Given the description of an element on the screen output the (x, y) to click on. 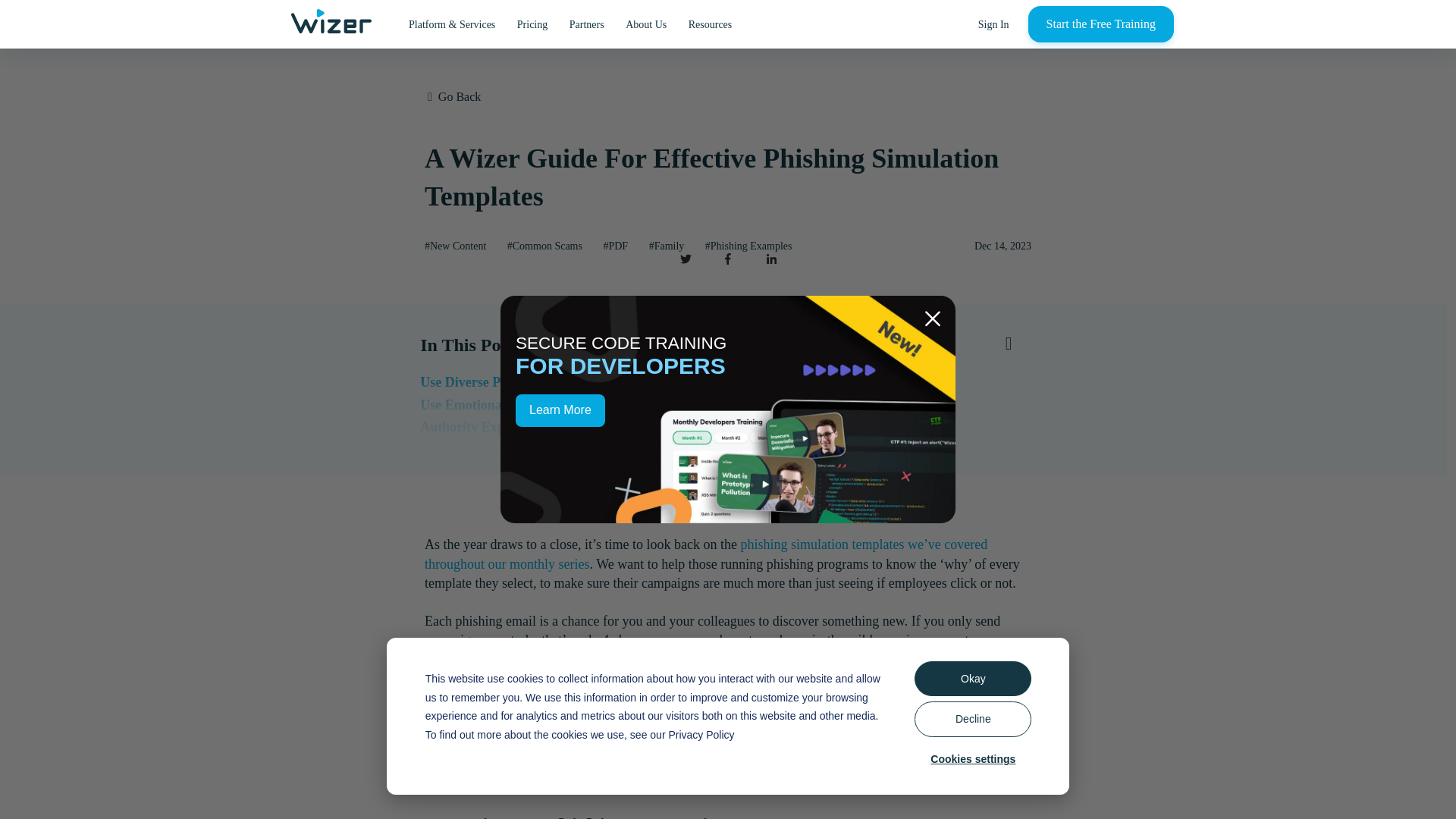
About Us (645, 24)
Popup CTA (727, 409)
Resources (710, 24)
Partners (586, 24)
Pricing (532, 24)
Share this blog post on Twitter (684, 258)
